Given the description of an element on the screen output the (x, y) to click on. 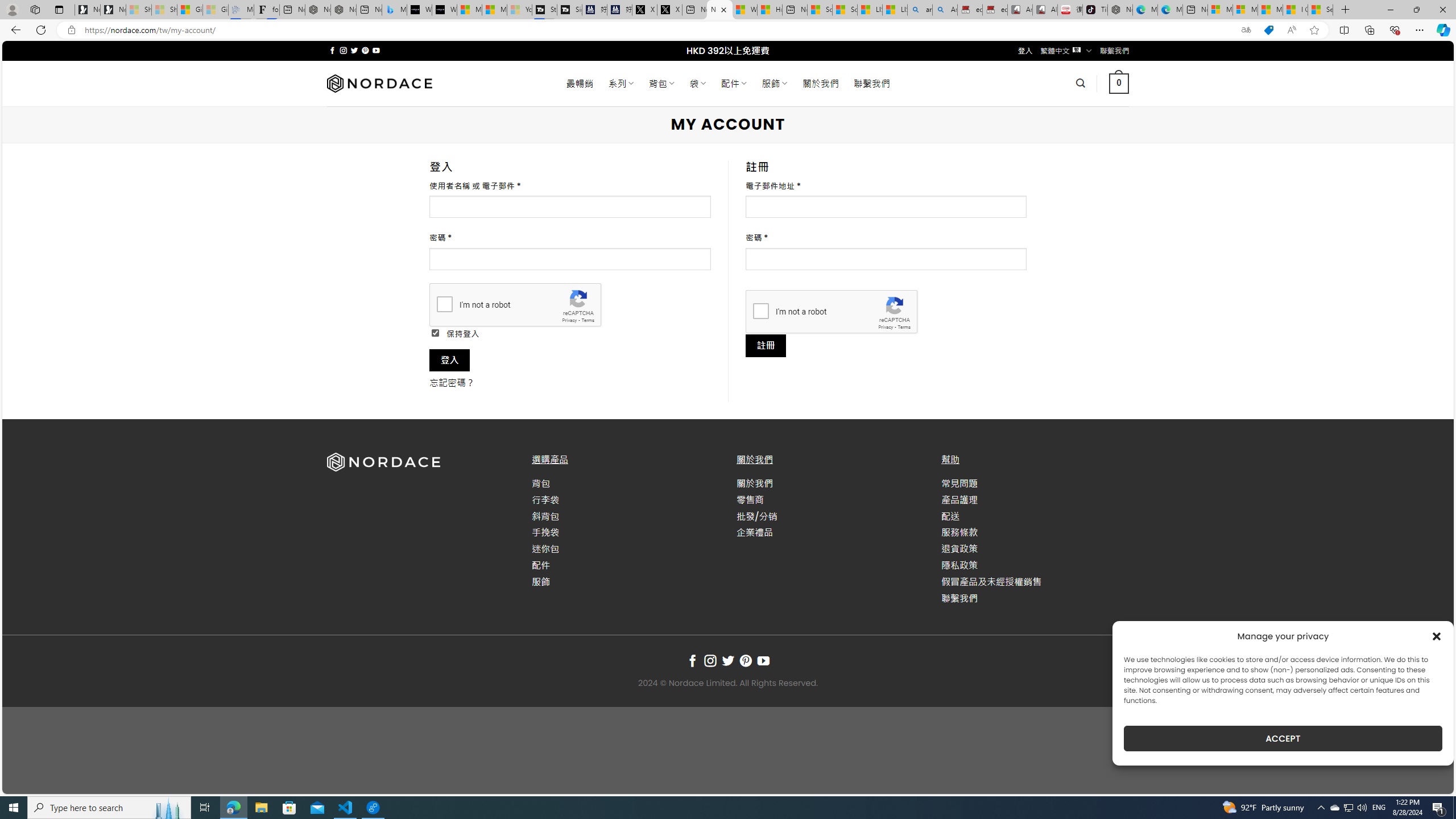
TikTok (1094, 9)
Privacy (885, 326)
App bar (728, 29)
